Given the description of an element on the screen output the (x, y) to click on. 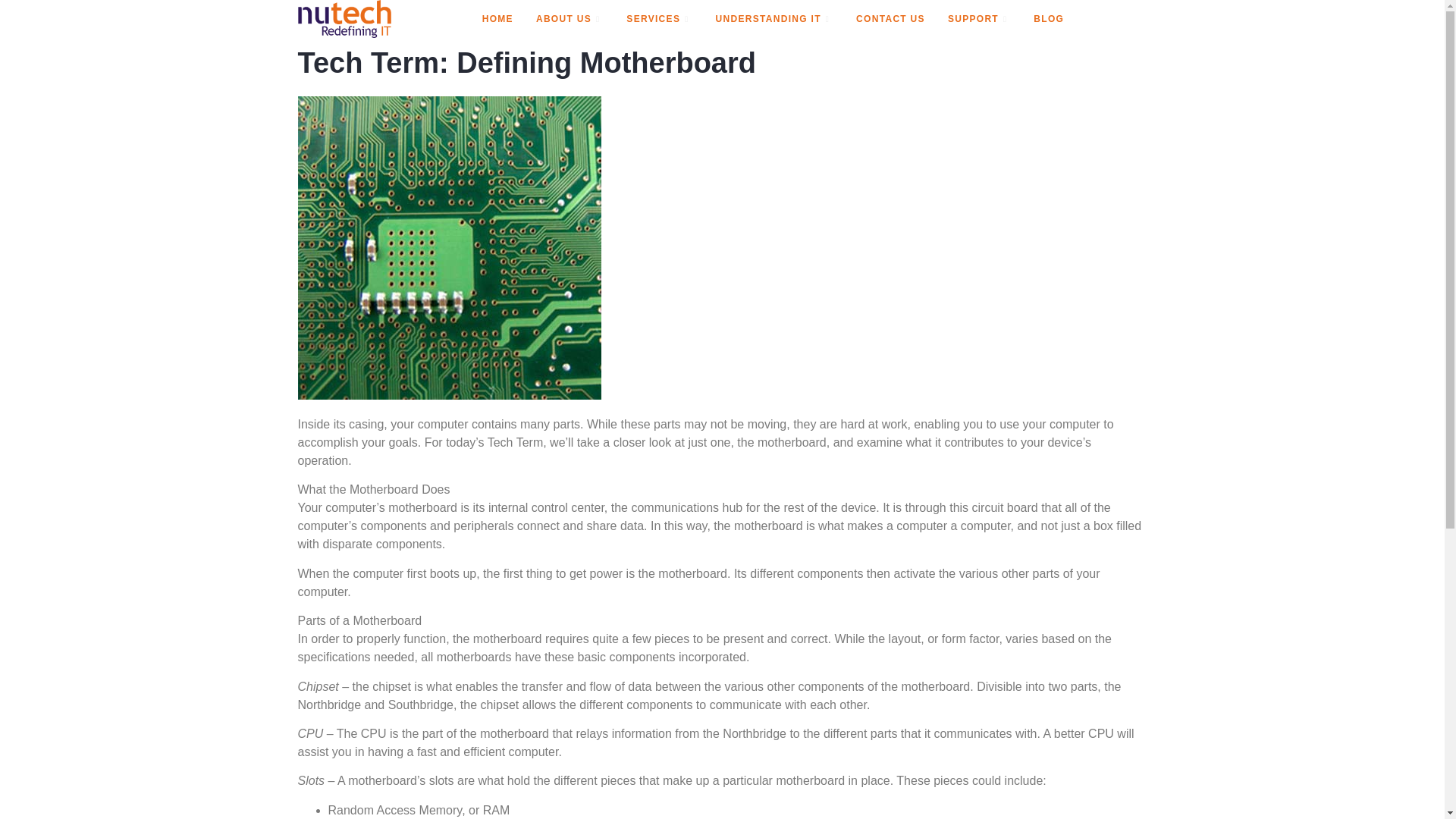
SERVICES (658, 18)
ABOUT US (569, 18)
HOME (497, 18)
